Given the description of an element on the screen output the (x, y) to click on. 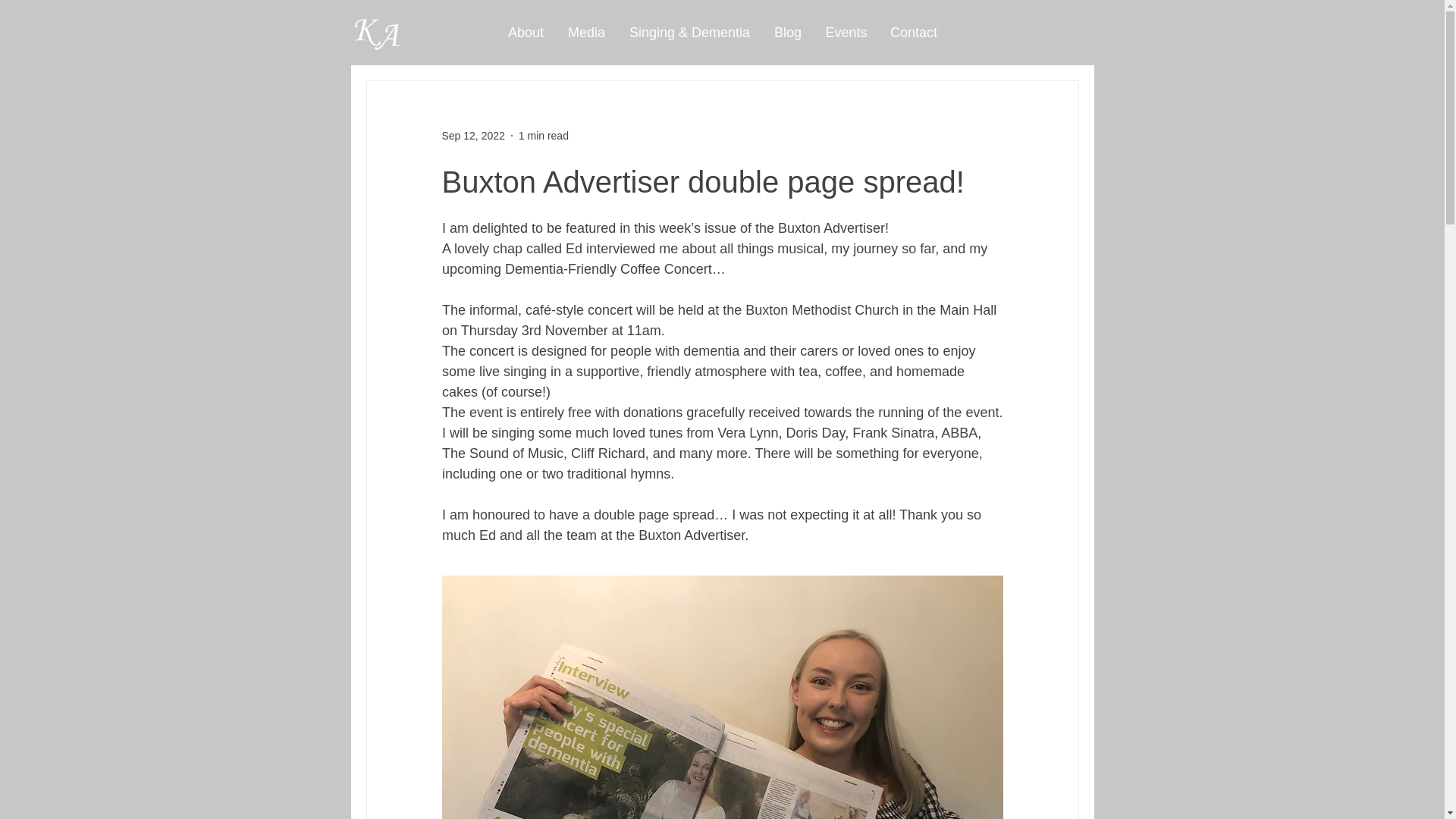
1 min read (543, 134)
Contact (913, 32)
Blog (786, 32)
Sep 12, 2022 (472, 134)
Events (844, 32)
About (526, 32)
